Given the description of an element on the screen output the (x, y) to click on. 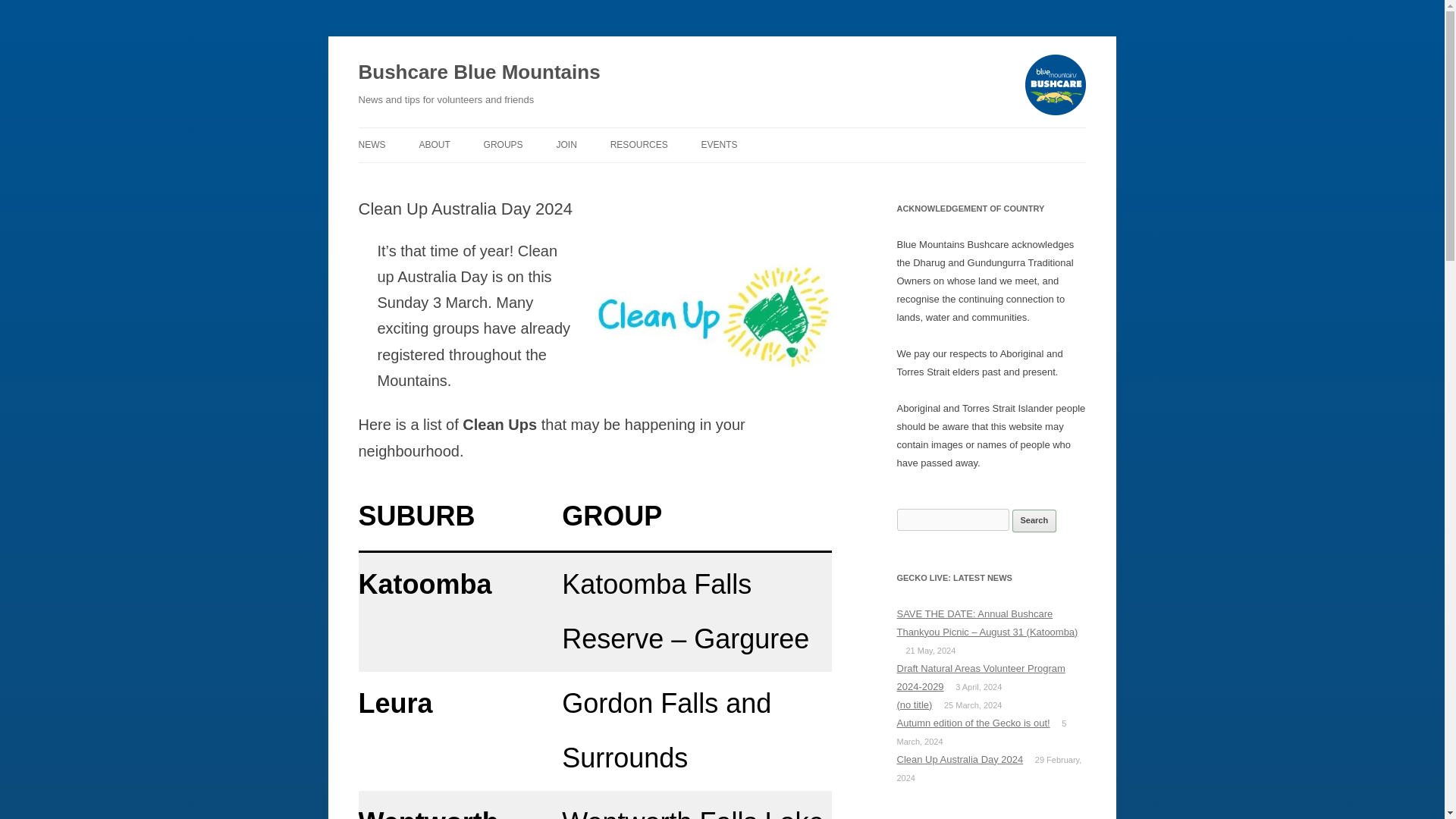
EVENTS (719, 144)
Autumn edition of the Gecko is out! (972, 722)
ABOUT (434, 144)
GROUPS (502, 144)
RESOURCES (639, 144)
Bushcare Blue Mountains (478, 72)
Clean Up Australia Day 2024 (959, 758)
SWAMPCARE (494, 177)
BUSHCARE MANUAL (685, 177)
About Bushcare Blue Mountains (434, 144)
